Given the description of an element on the screen output the (x, y) to click on. 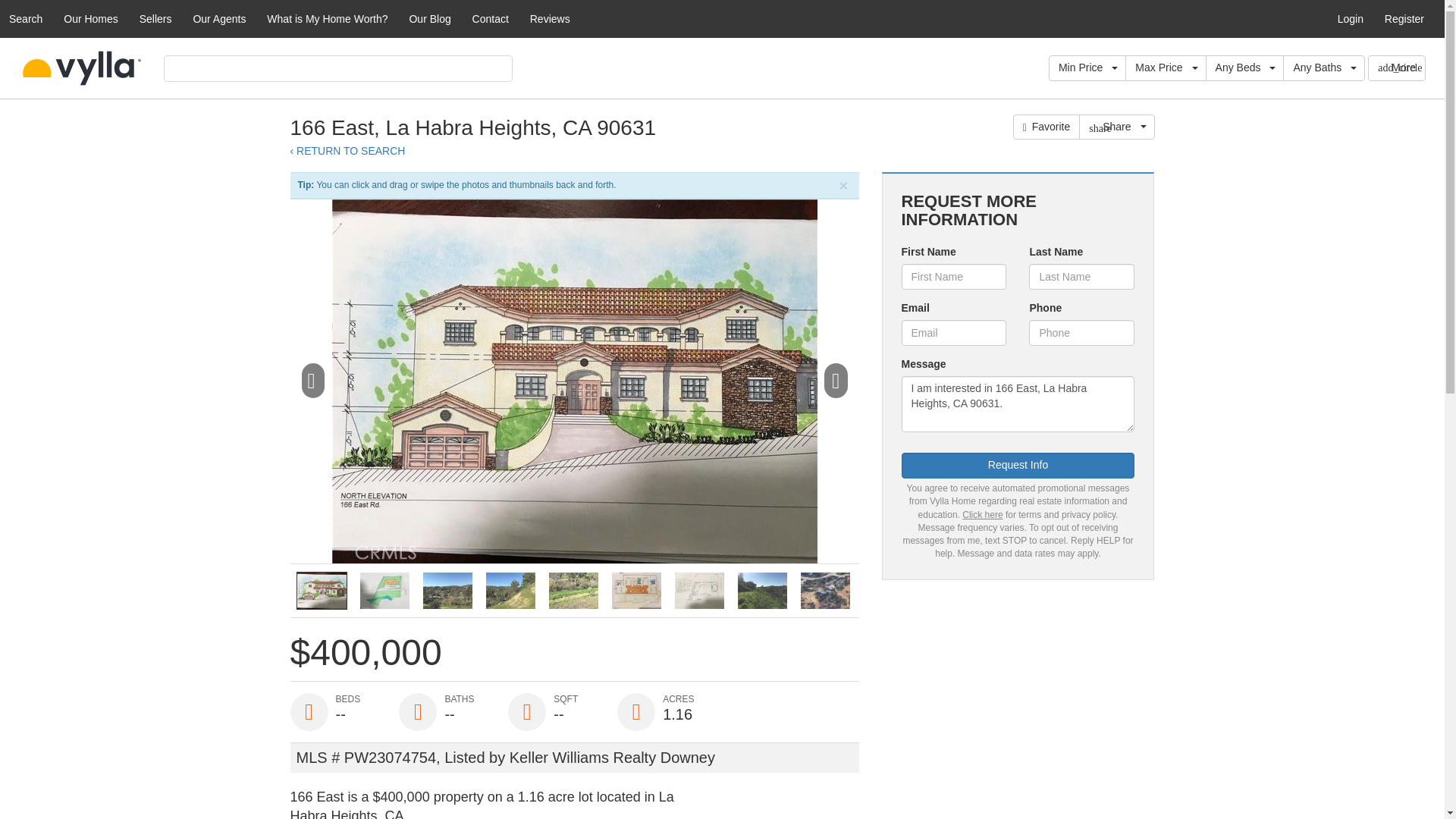
Min Price (1086, 68)
Contact (490, 18)
Our Blog (429, 18)
Login (1350, 18)
Search (25, 18)
Our Agents (218, 18)
Our Homes (91, 18)
What is My Home Worth? (326, 18)
Sellers (155, 18)
Reviews (550, 18)
Register (1403, 18)
